Given the description of an element on the screen output the (x, y) to click on. 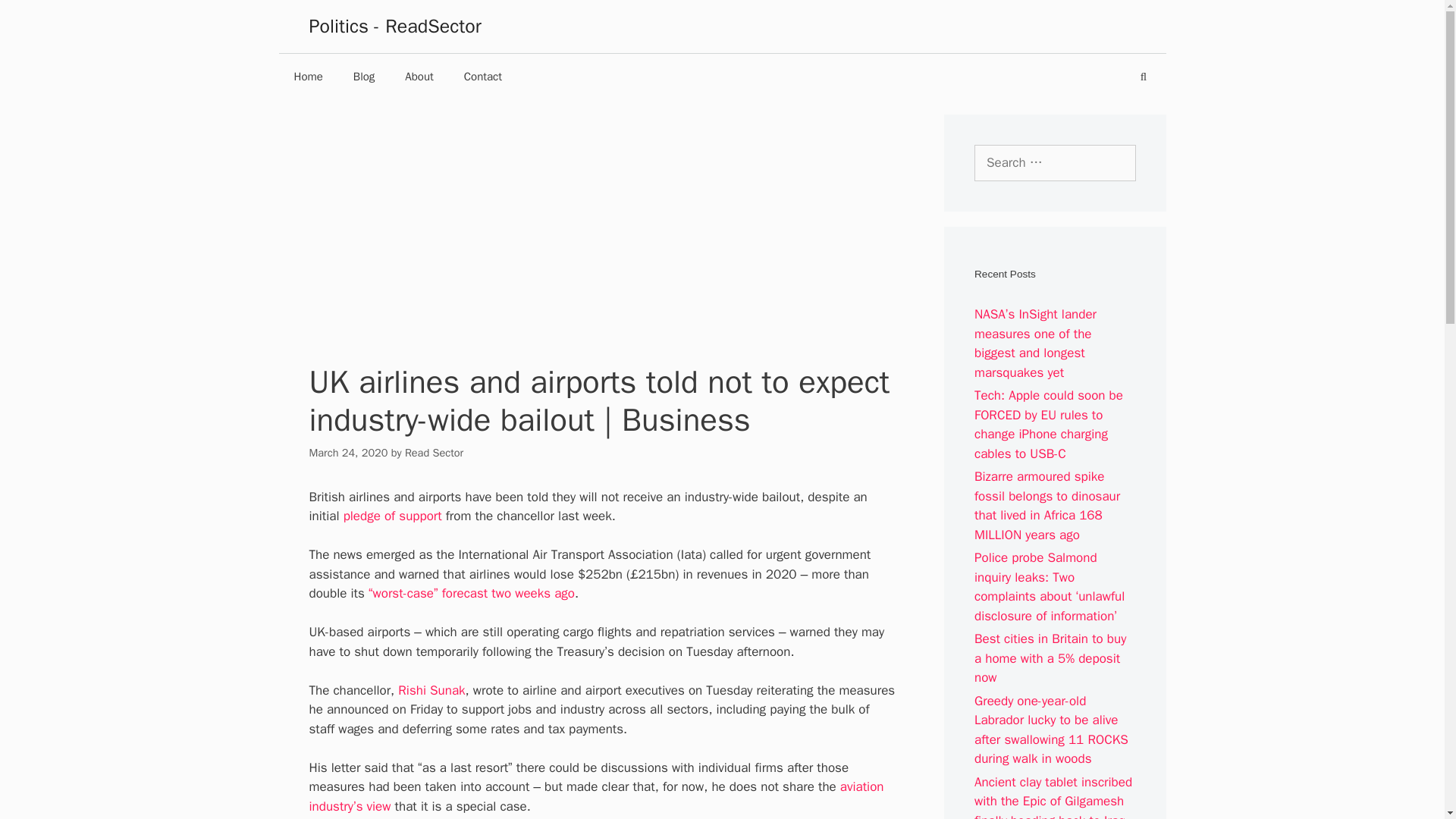
About (419, 76)
Search for: (1054, 162)
Blog (363, 76)
Politics - ReadSector (394, 25)
View all posts by Read Sector (433, 452)
Contact (482, 76)
Home (308, 76)
Rishi Sunak (430, 690)
Read Sector (433, 452)
Search (34, 16)
